Given the description of an element on the screen output the (x, y) to click on. 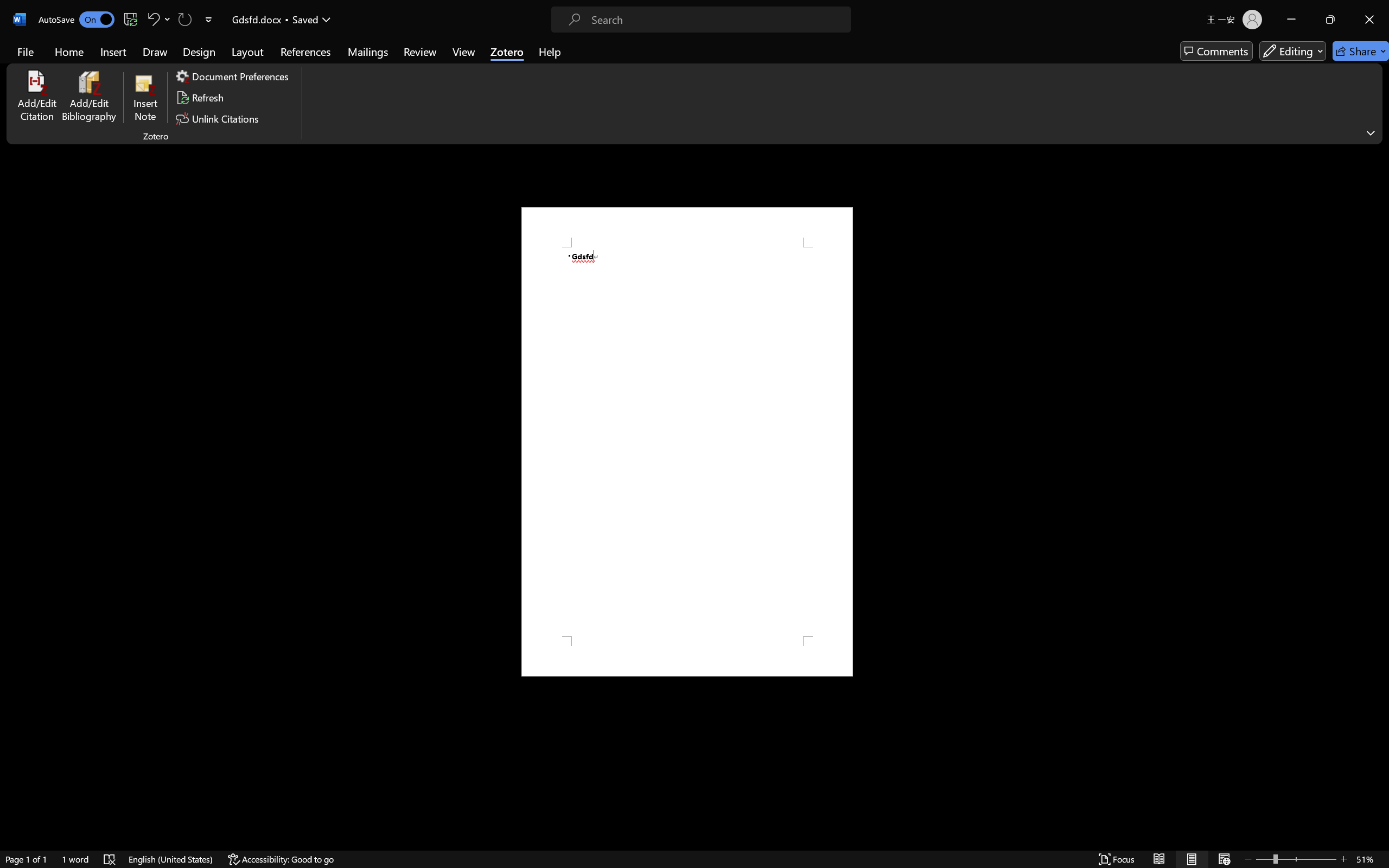
Page 1 content (686, 441)
